Given the description of an element on the screen output the (x, y) to click on. 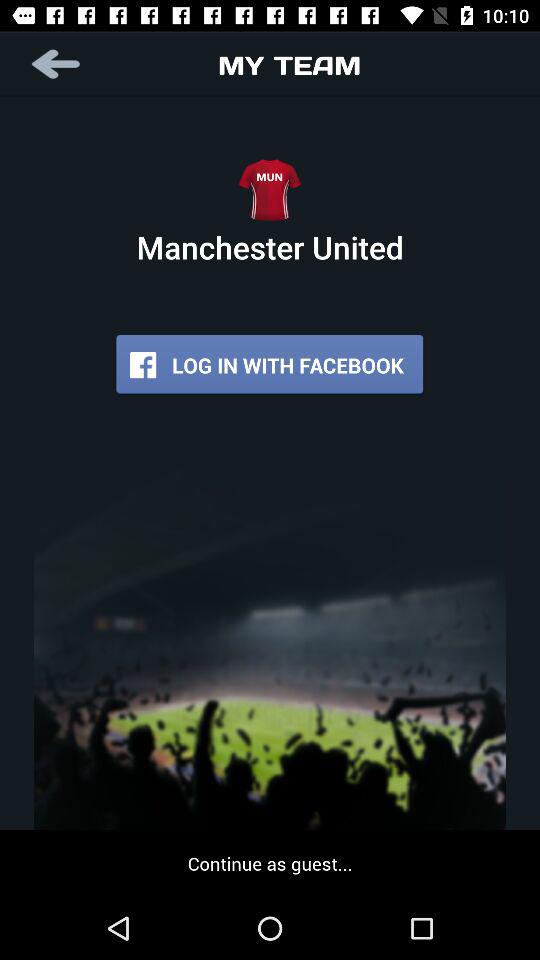
go back a page (57, 63)
